Given the description of an element on the screen output the (x, y) to click on. 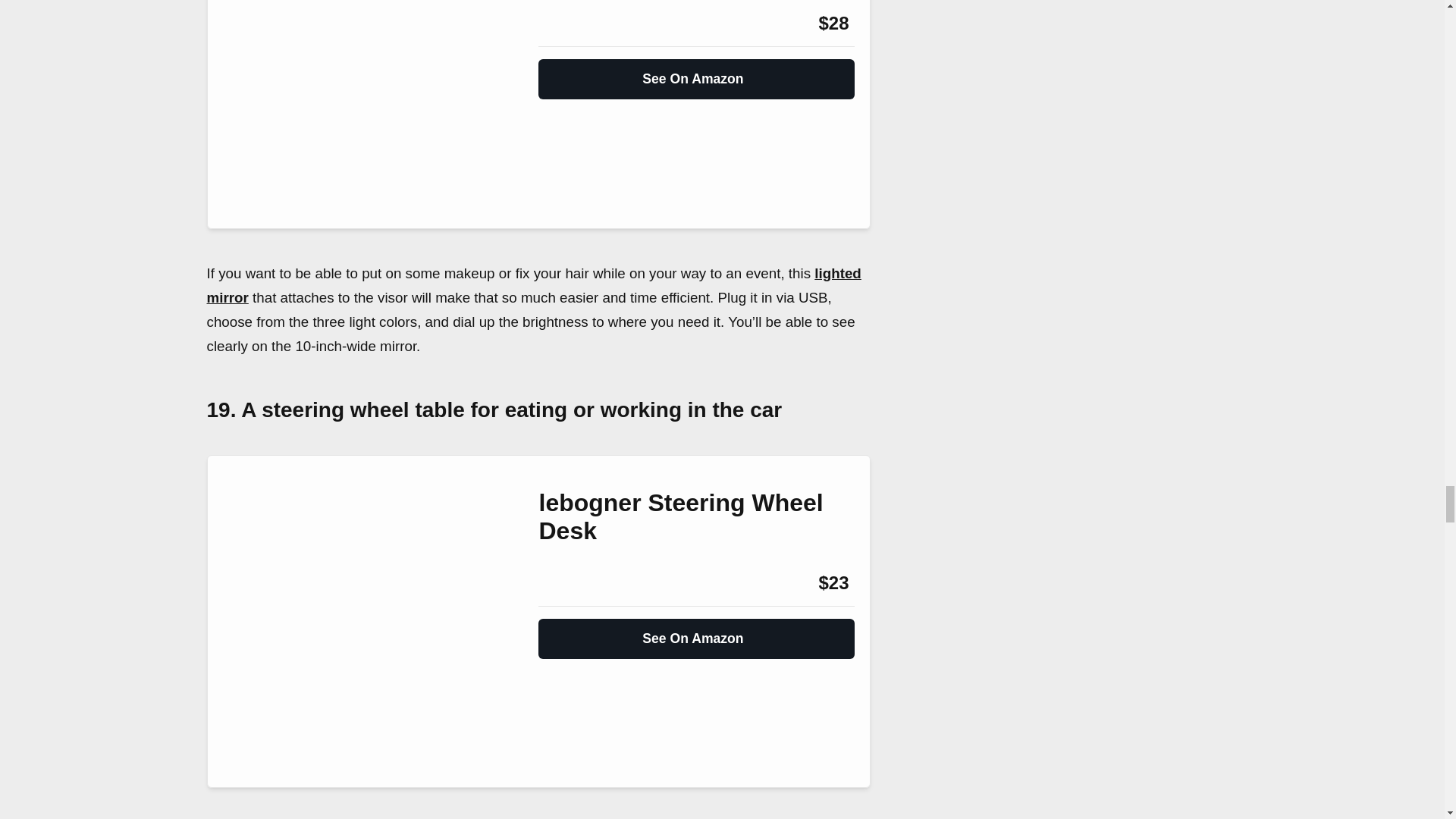
Amazon (579, 23)
Amazon (579, 583)
